Given the description of an element on the screen output the (x, y) to click on. 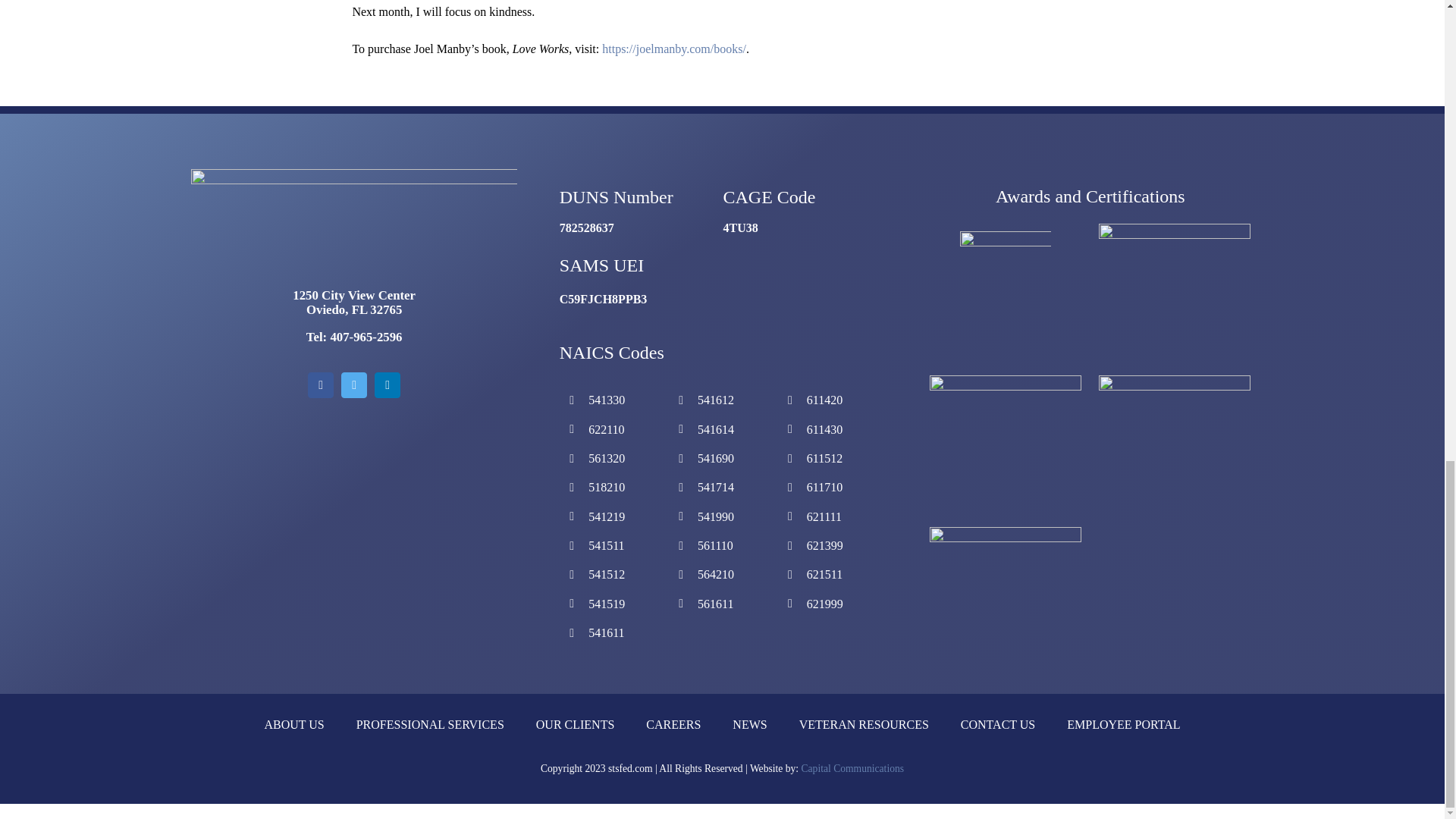
STS-wBackground (353, 228)
Twitter (353, 385)
LinkedIn (387, 385)
Facebook (320, 385)
